Given the description of an element on the screen output the (x, y) to click on. 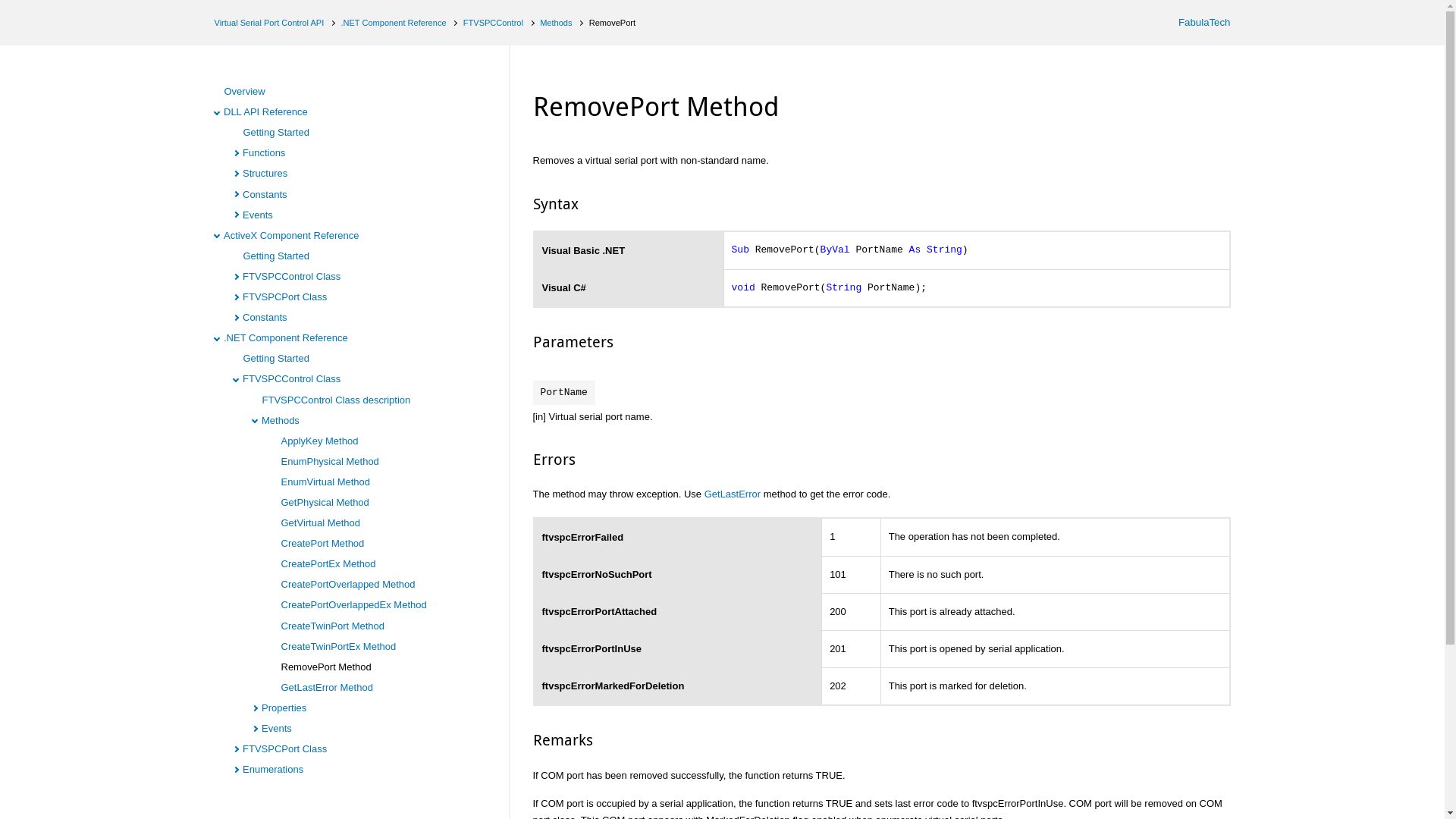
.NET Component Reference (392, 22)
Methods (556, 22)
FTVSPCControl (492, 22)
FabulaTech (1195, 22)
Getting Started (275, 132)
Overview (244, 91)
Virtual Serial Port Control API (268, 22)
